Given the description of an element on the screen output the (x, y) to click on. 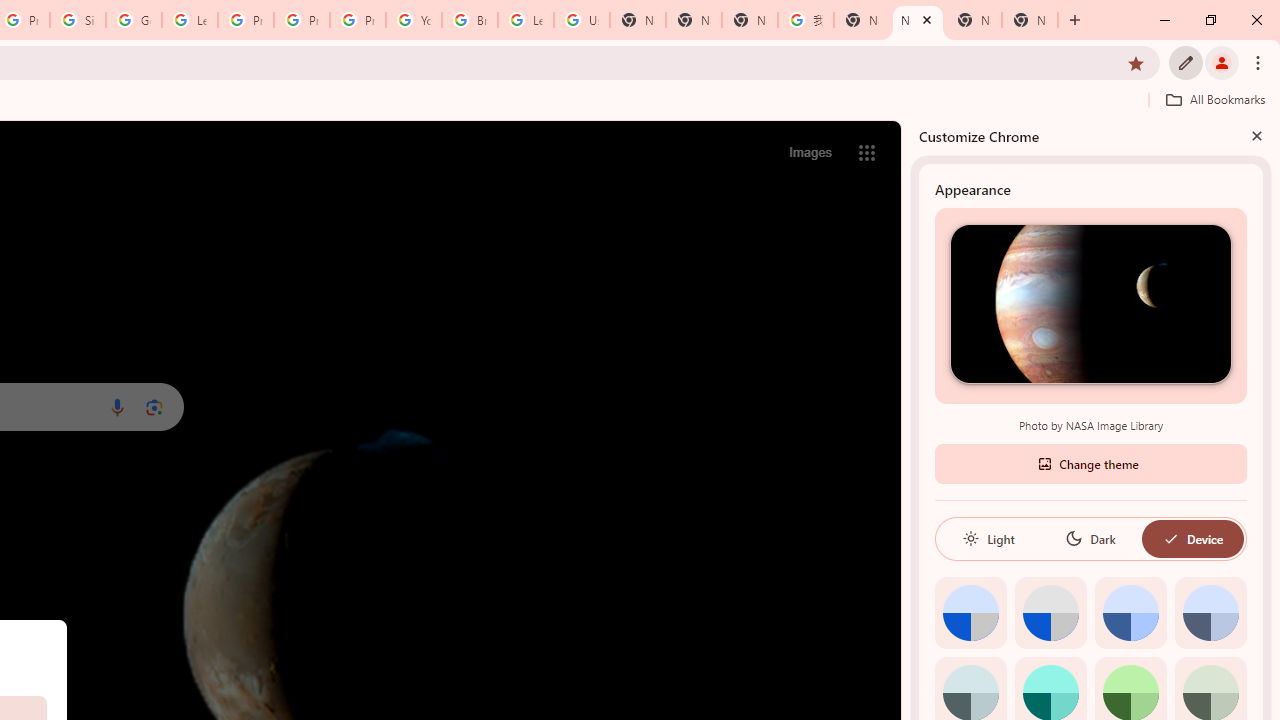
Device (1192, 538)
